Given the description of an element on the screen output the (x, y) to click on. 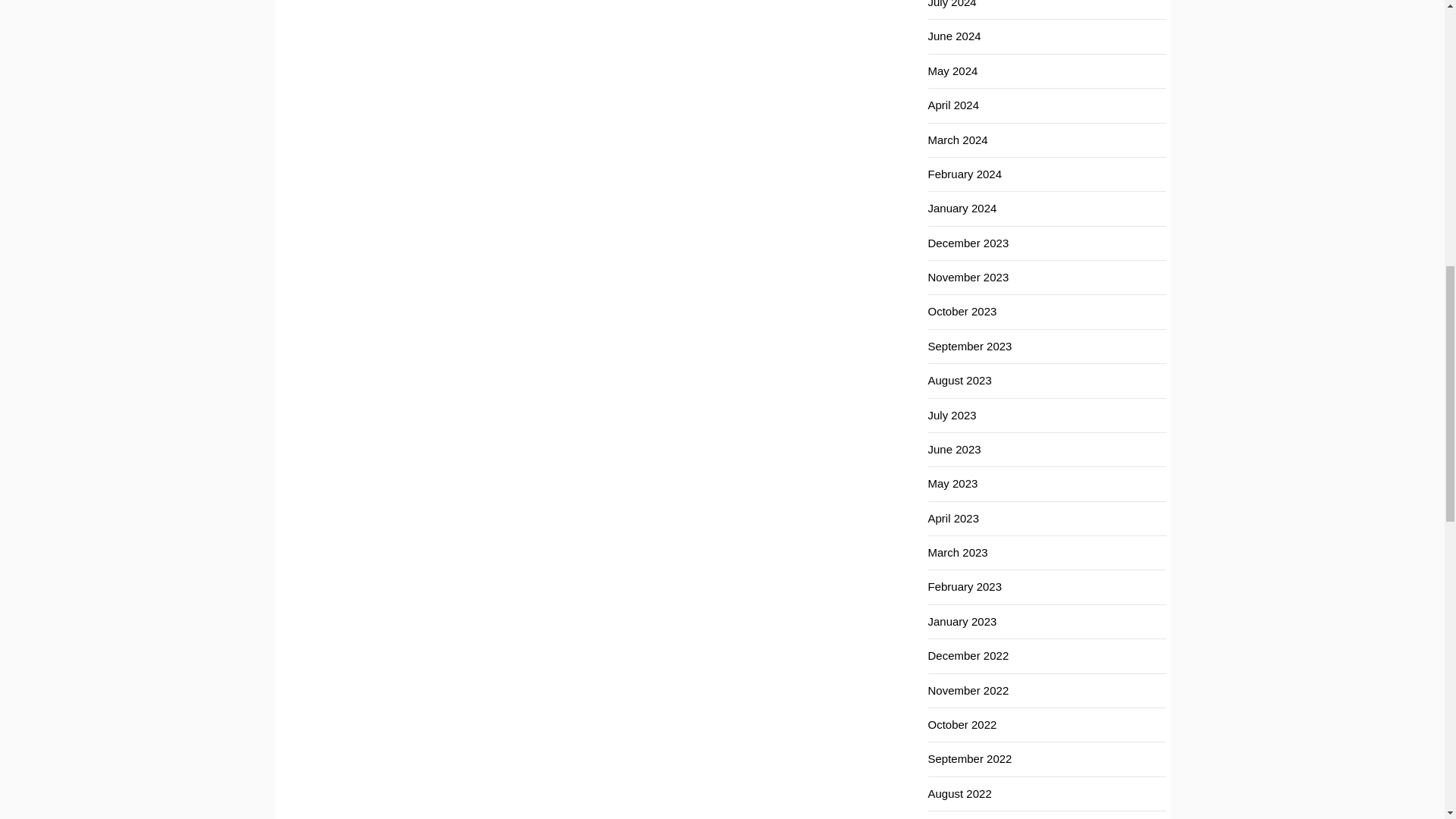
May 2023 (953, 482)
April 2023 (953, 517)
November 2022 (968, 689)
March 2023 (958, 552)
August 2023 (959, 379)
November 2023 (968, 277)
October 2022 (962, 724)
March 2024 (958, 139)
December 2023 (968, 242)
February 2023 (965, 585)
September 2022 (969, 758)
February 2024 (965, 173)
May 2024 (953, 70)
August 2022 (959, 793)
June 2024 (954, 35)
